Given the description of an element on the screen output the (x, y) to click on. 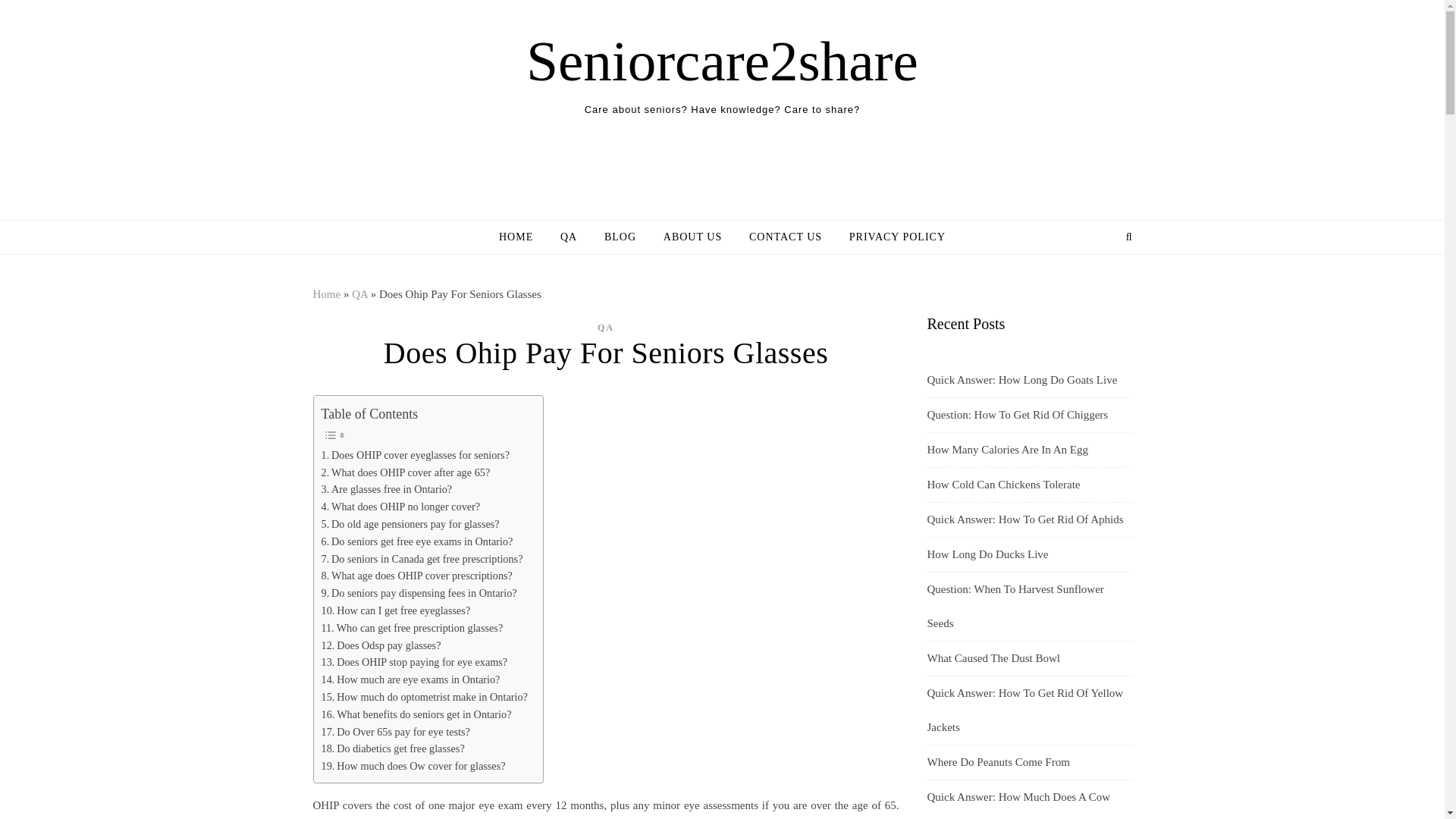
How much are eye exams in Ontario? (410, 679)
Do seniors in Canada get free prescriptions? (421, 559)
What does OHIP cover after age 65? (405, 472)
Seniorcare2share (721, 60)
Who can get free prescription glasses? (412, 628)
CONTACT US (785, 236)
Do seniors get free eye exams in Ontario? (417, 541)
Who can get free prescription glasses? (412, 628)
ABOUT US (691, 236)
Does OHIP cover eyeglasses for seniors? (415, 455)
